Given the description of an element on the screen output the (x, y) to click on. 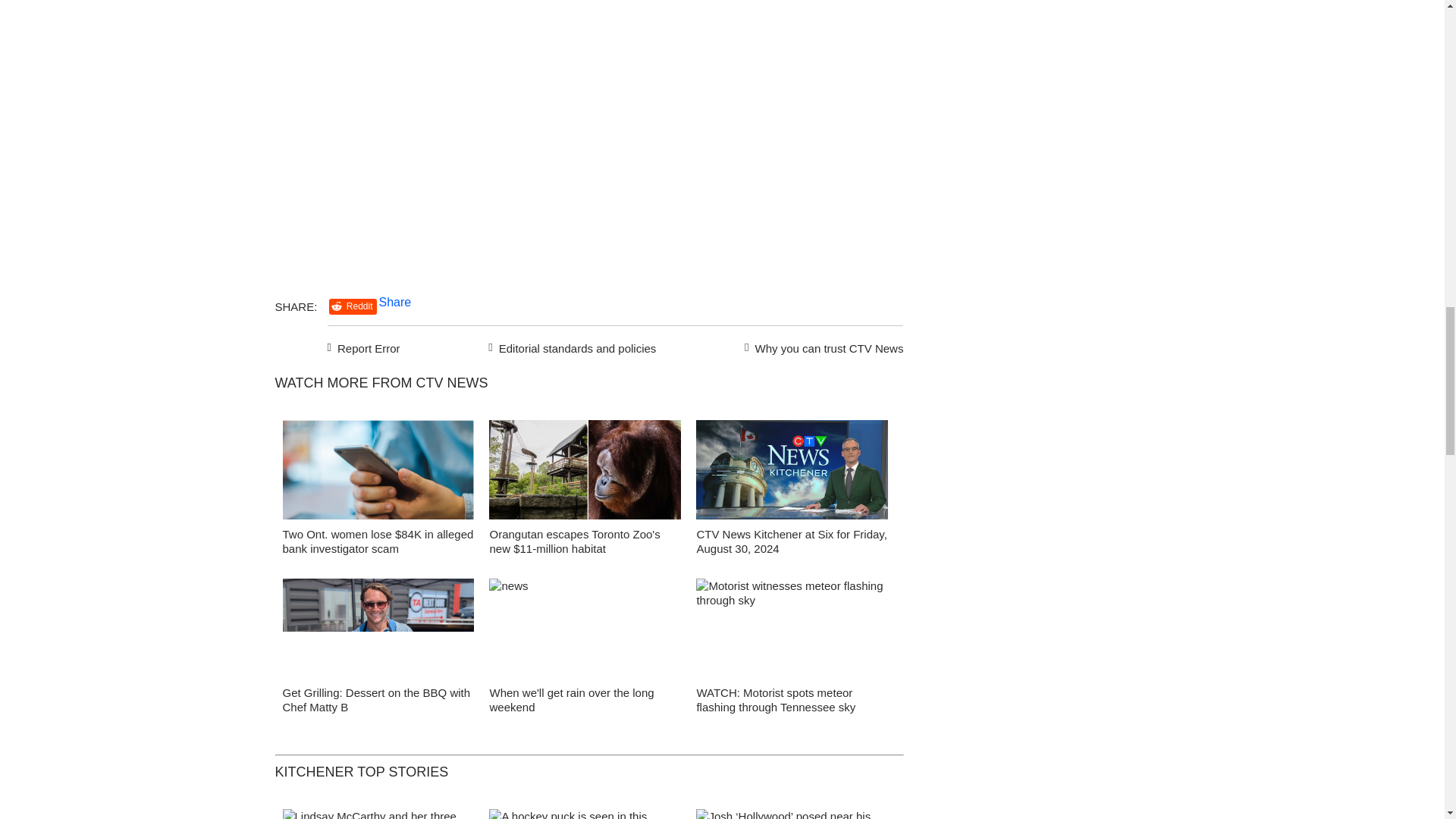
Hockey puck (585, 814)
false (791, 628)
news (791, 473)
false (378, 628)
Get Grilling: Dessert on the BBQ with Chef Matty B (376, 699)
news (585, 632)
false (378, 469)
false (791, 469)
Lindsay McCarthy cambridge home mould rent (378, 814)
Motorist witnesses meteor flashing through sky (791, 632)
